Given the description of an element on the screen output the (x, y) to click on. 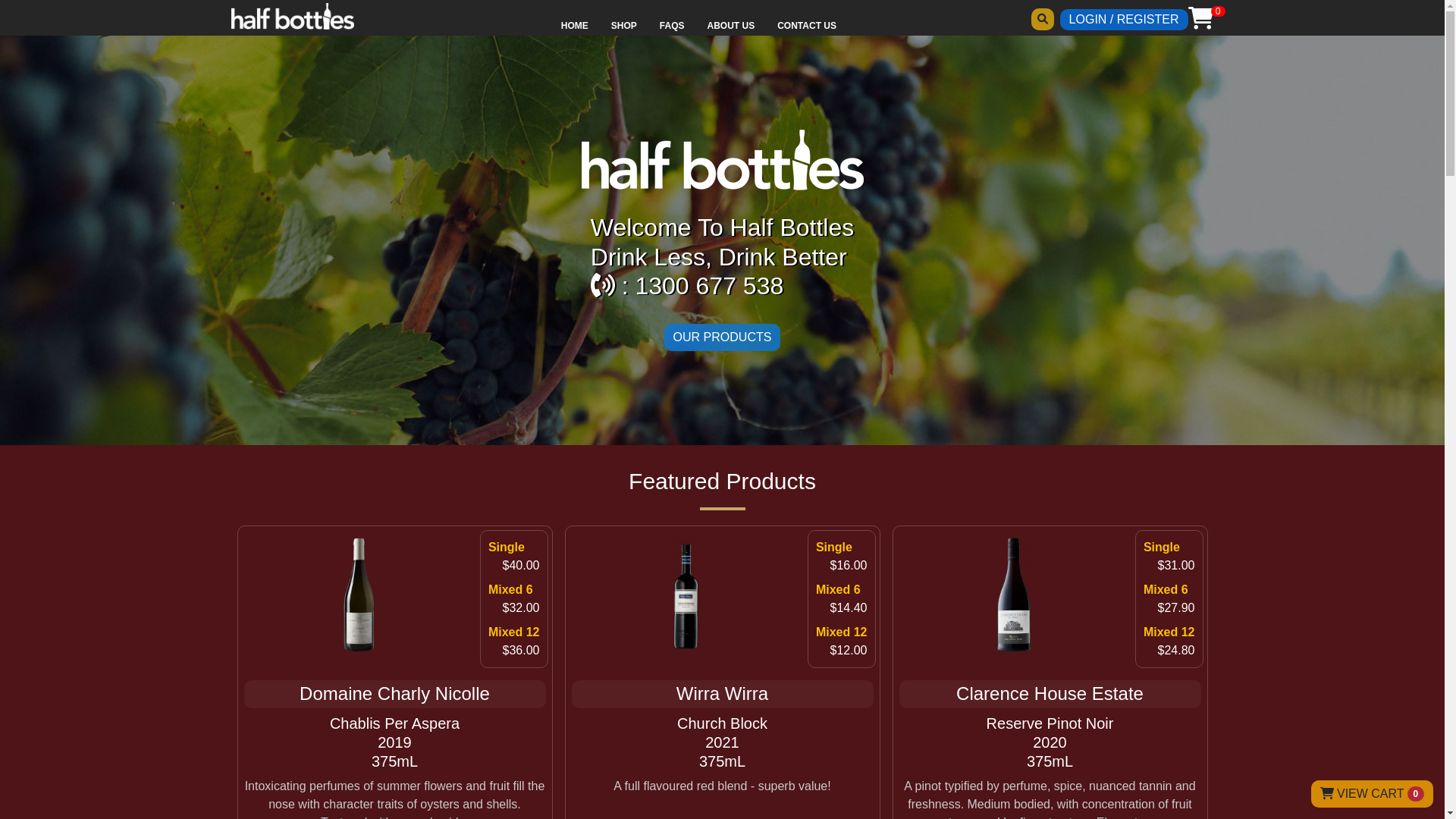
ABOUT US Element type: text (731, 25)
FAQS Element type: text (672, 25)
OUR PRODUCTS Element type: text (722, 337)
VIEW CART 0 Element type: text (1372, 793)
0 Element type: text (1200, 18)
SHOP Element type: text (623, 25)
LOGIN / REGISTER Element type: text (1124, 19)
CONTACT US Element type: text (806, 25)
HOME Element type: text (574, 25)
